Given the description of an element on the screen output the (x, y) to click on. 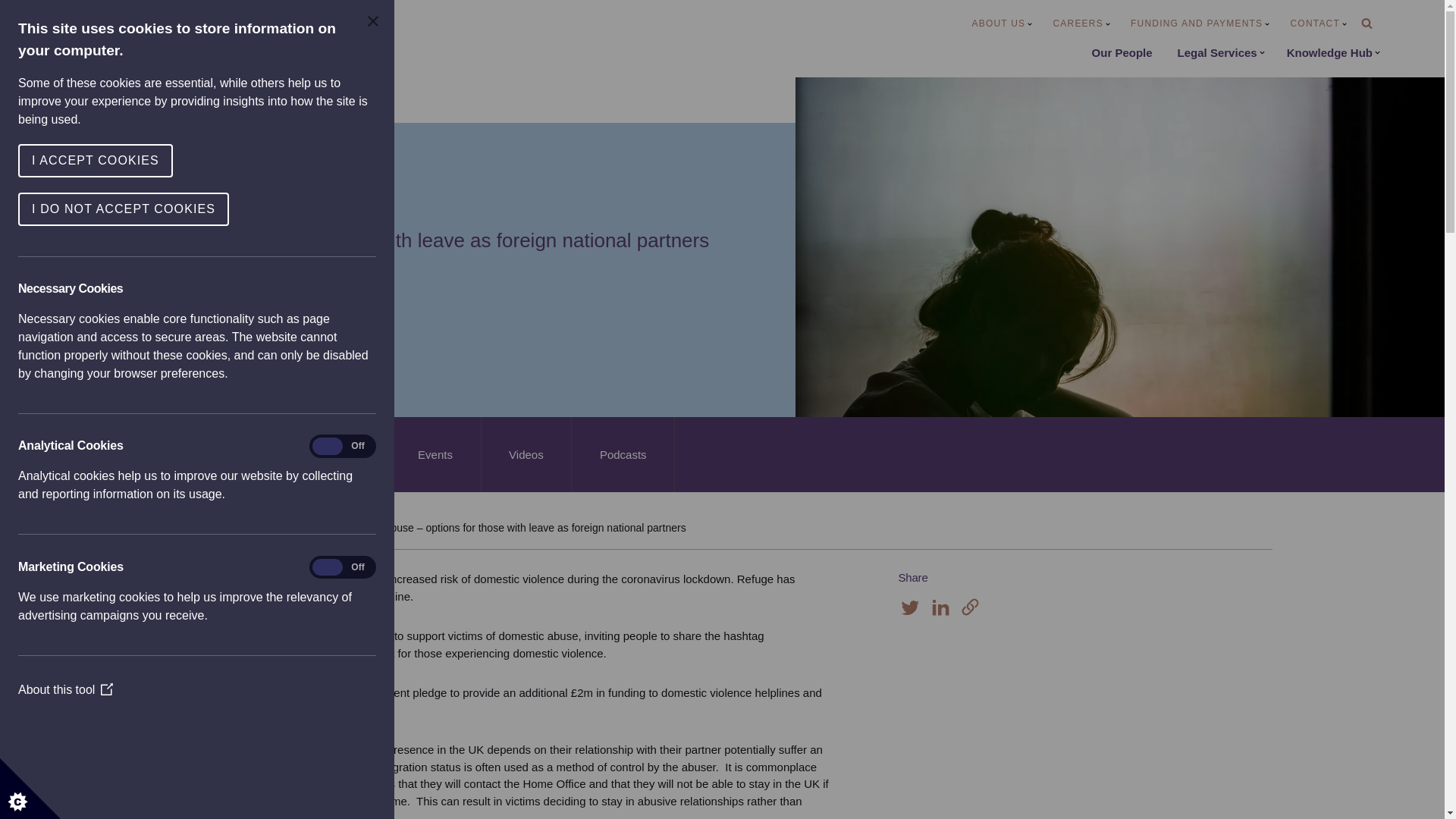
CAREERS (1080, 24)
I DO NOT ACCEPT COOKIES (30, 209)
FUNDING AND PAYMENTS (1200, 24)
CONTACT (1318, 24)
Skip to content (11, 31)
ABOUT US (1002, 24)
Our People (1122, 52)
Legal Services (1221, 52)
